Given the description of an element on the screen output the (x, y) to click on. 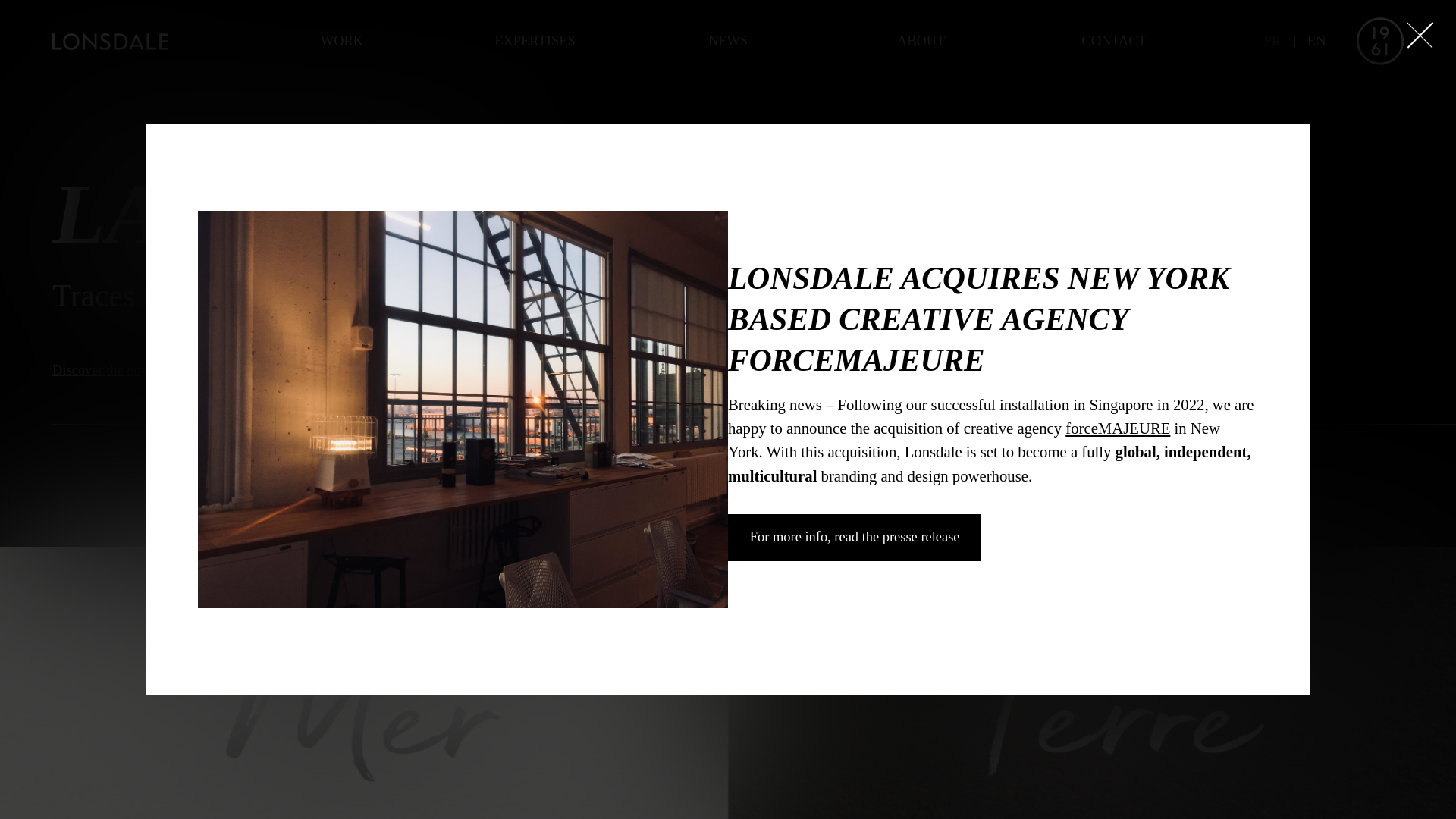
NEWS (728, 41)
FR (1272, 41)
CONTACT (1114, 41)
EXPERTISES (534, 41)
WORK (342, 41)
EN (1316, 41)
ABOUT (920, 41)
